Given the description of an element on the screen output the (x, y) to click on. 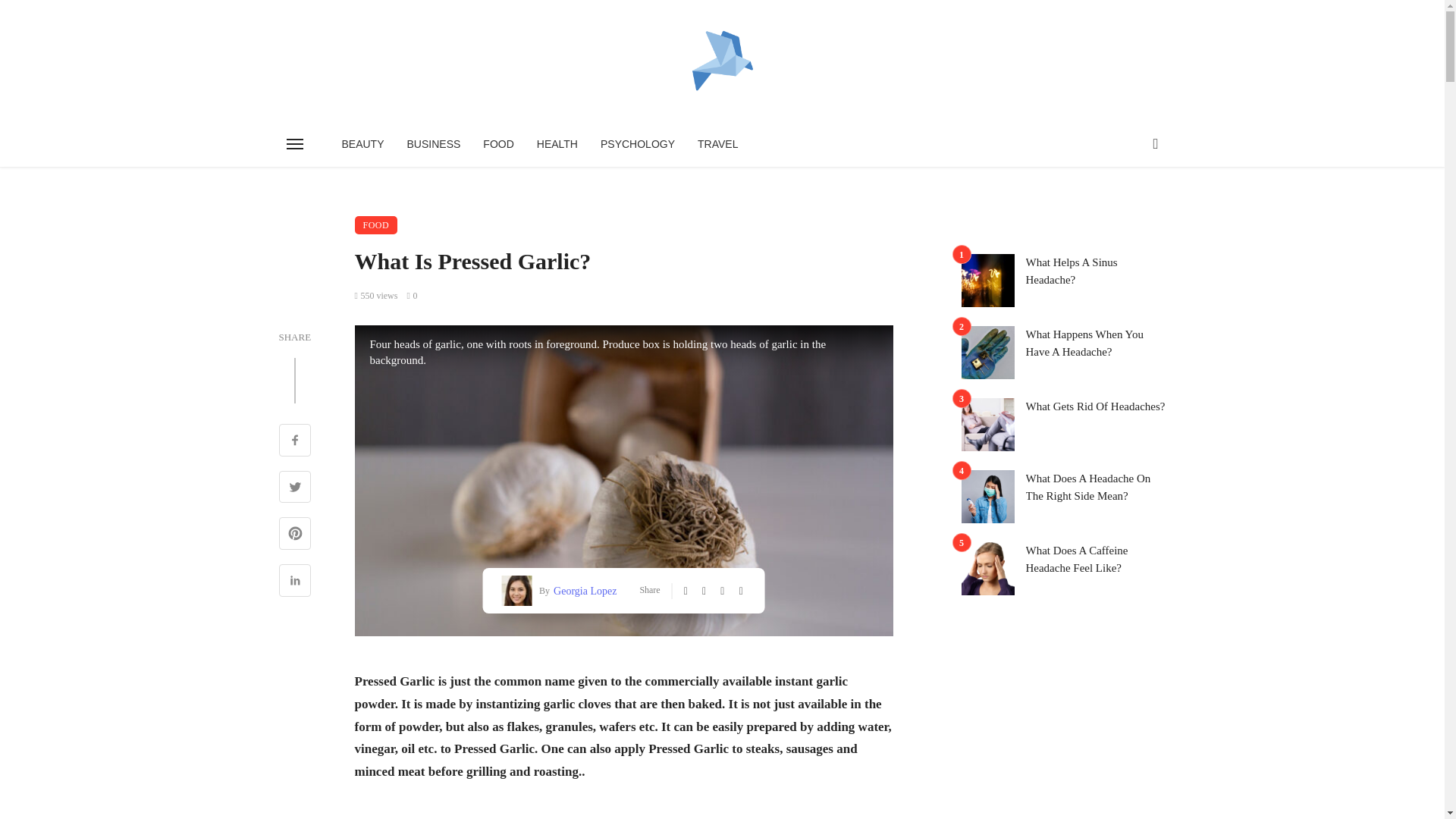
Share on Twitter (295, 488)
Advertisement (624, 812)
Georgia Lopez (582, 590)
Share on Pinterest (295, 534)
Posts by Georgia Lopez (582, 590)
BUSINESS (433, 144)
Share on Facebook (295, 442)
HEALTH (557, 144)
TRAVEL (717, 144)
Share on Linkedin (295, 582)
